Given the description of an element on the screen output the (x, y) to click on. 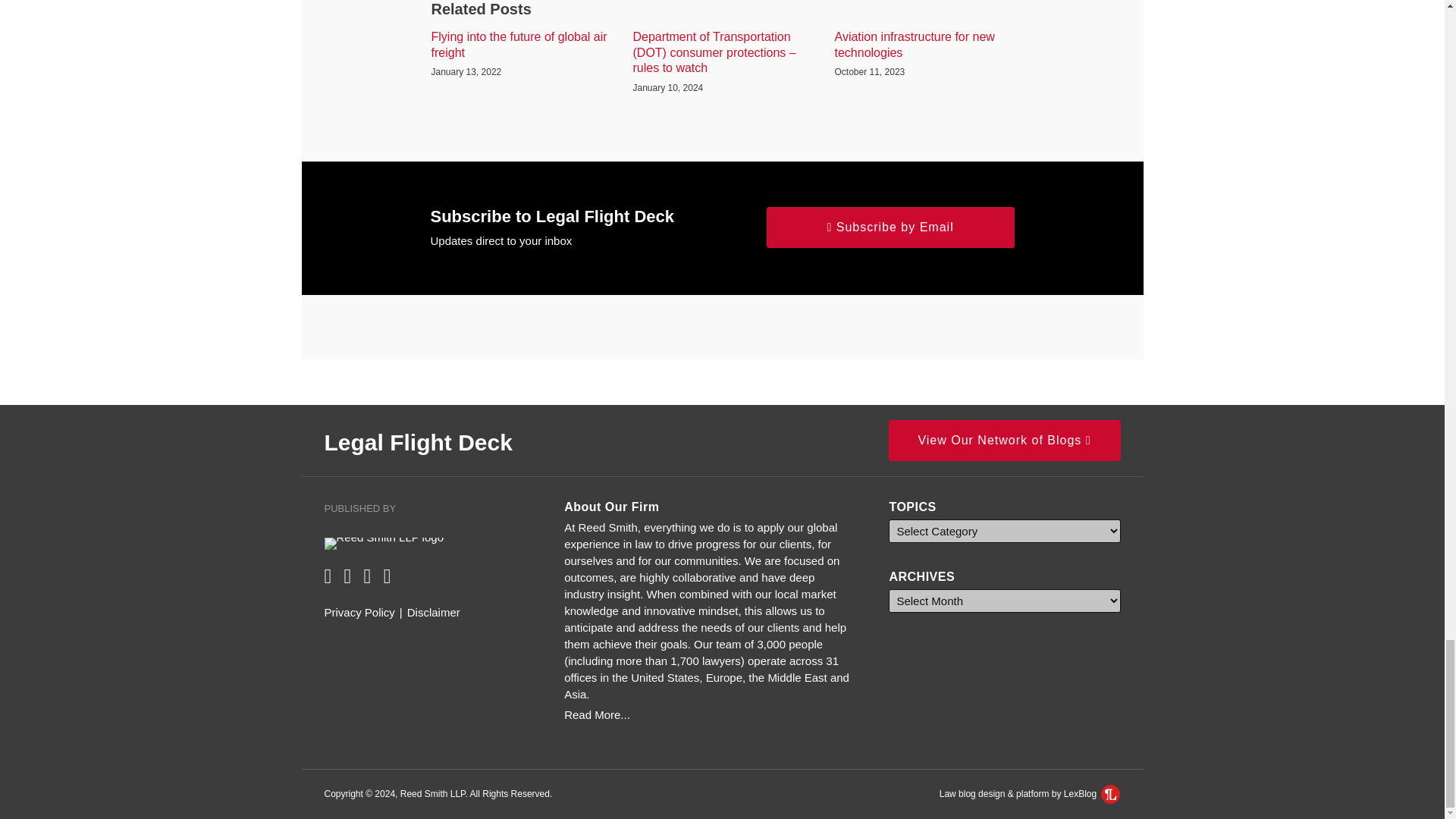
Subscribe by Email (890, 227)
Flying into the future of global air freight (520, 45)
Legal Flight Deck (418, 441)
Aviation infrastructure for new technologies (923, 45)
View Our Network of Blogs (1004, 440)
